Given the description of an element on the screen output the (x, y) to click on. 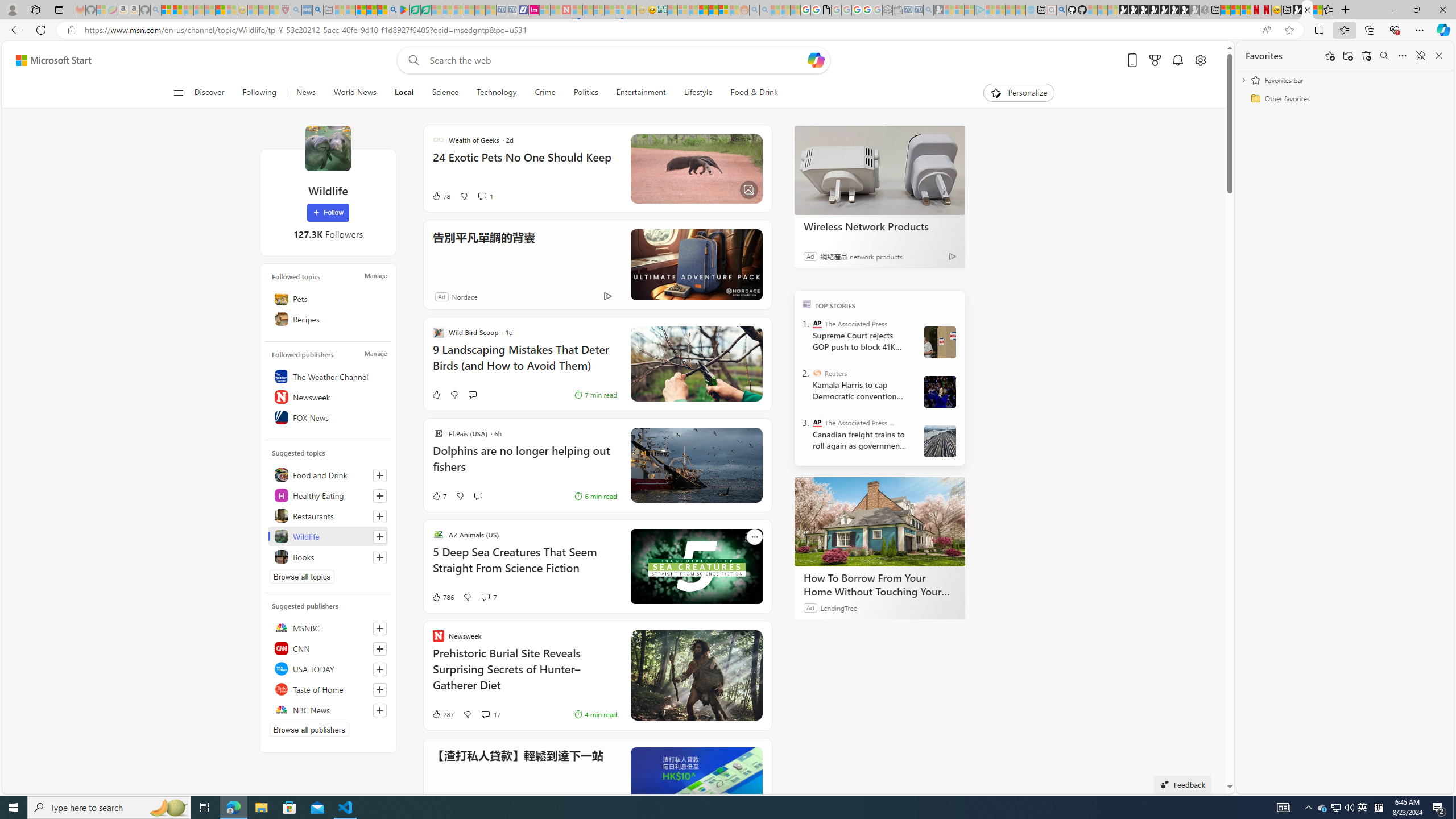
Wireless Network Products (879, 226)
Add folder (1347, 55)
Restaurants (327, 515)
Wildlife (327, 148)
 Canada Railroads Unions (940, 441)
Expert Portfolios (703, 9)
Wildlife - MSN (1307, 9)
